Given the description of an element on the screen output the (x, y) to click on. 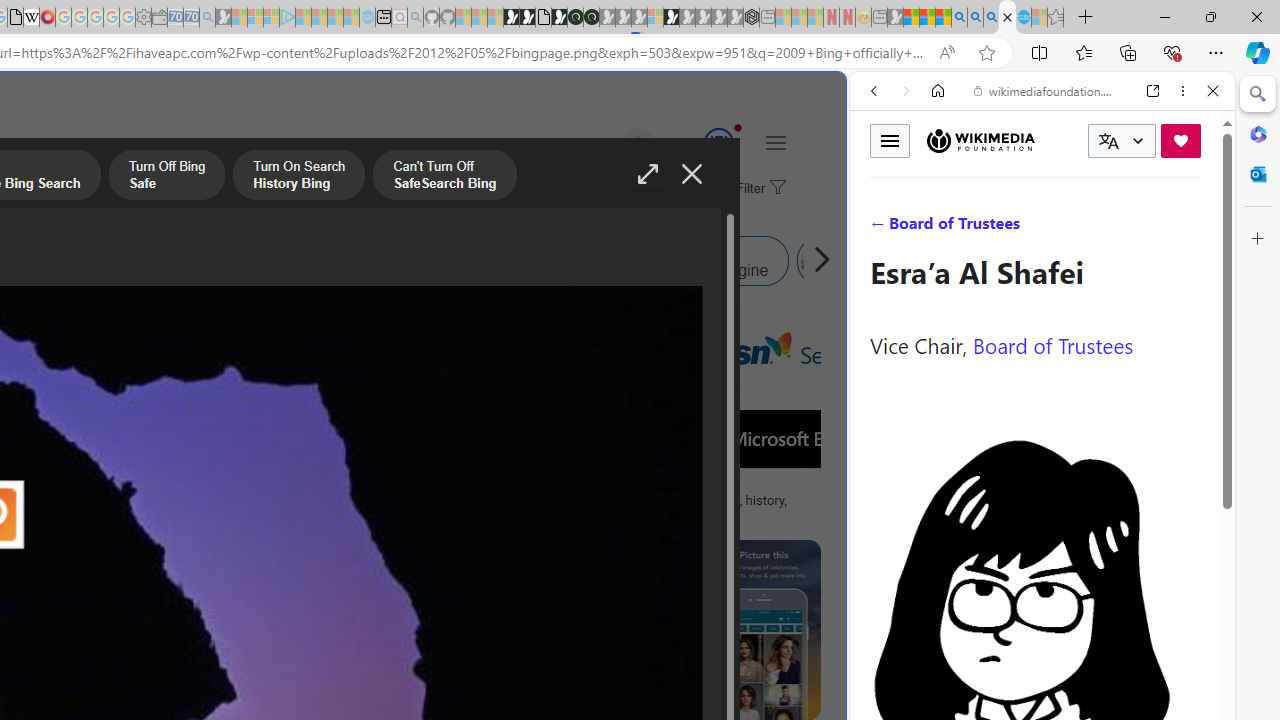
Sign in to your account - Sleeping (655, 17)
Owner of Bing Search Engine (597, 260)
Technology History timeline | Timetoast timelines (185, 508)
